Given the description of an element on the screen output the (x, y) to click on. 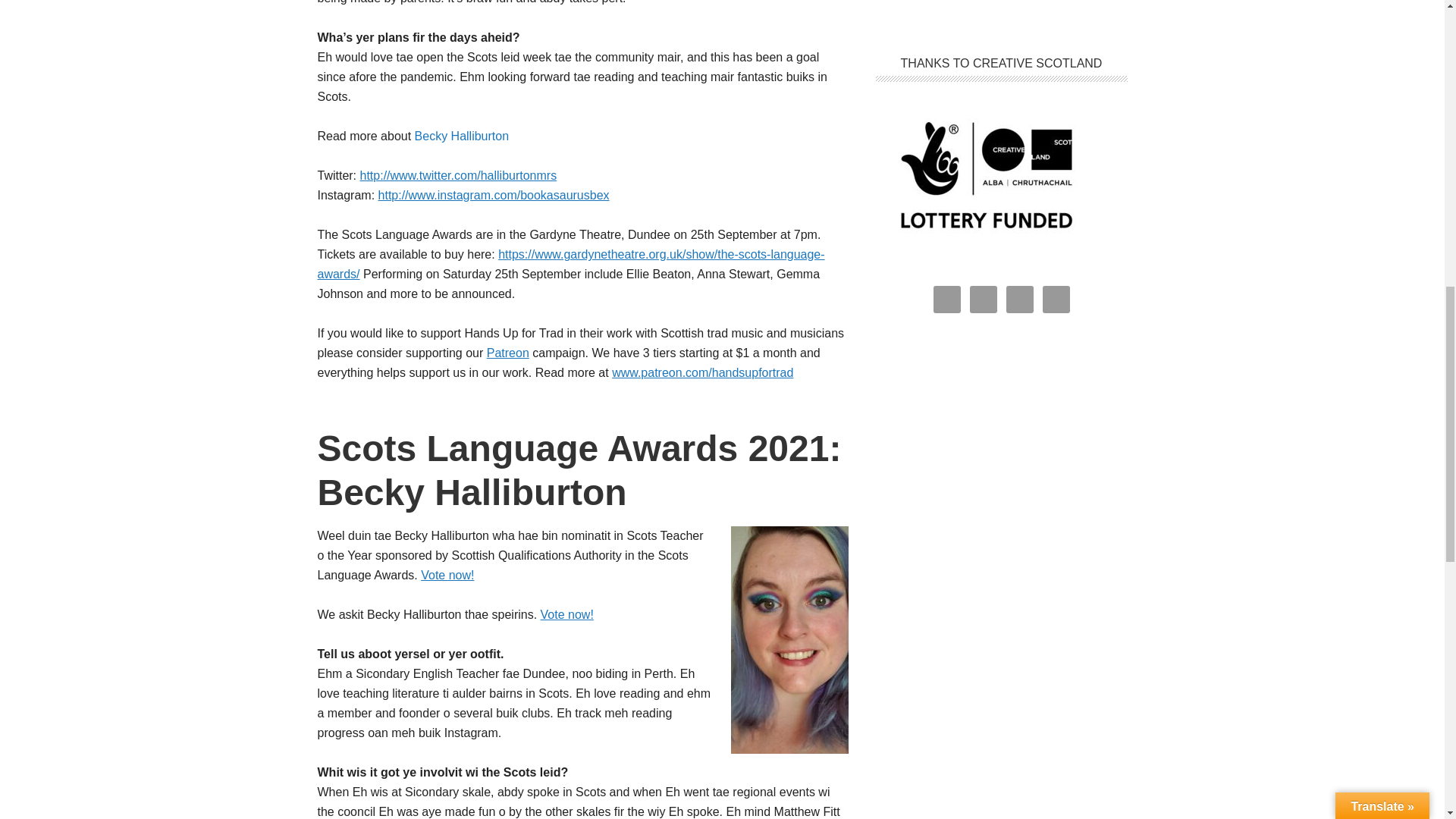
Thanks to Creative Scotland (988, 251)
Vote now! (447, 574)
Vote now! (567, 614)
Becky Halliburton (461, 135)
Patreon (507, 352)
